Given the description of an element on the screen output the (x, y) to click on. 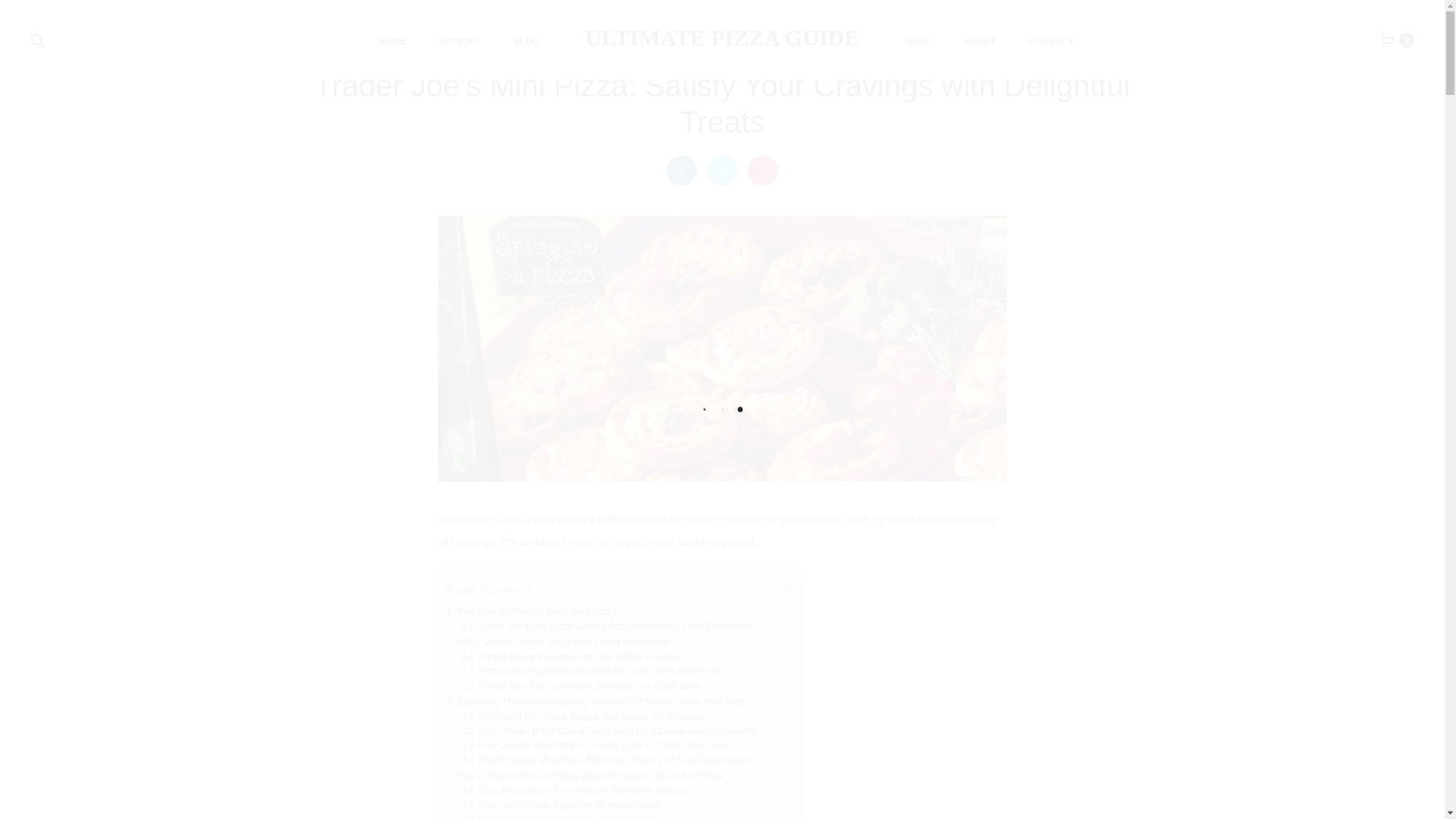
BLOG (526, 41)
Margherita Mini Pizza: Classic And Simple Yet Delicious (581, 716)
Unique Flavor Combinations That Satisfy Cravings (571, 657)
SHOP (917, 41)
PIZZA GUIDE (745, 45)
RIVIEWS (459, 41)
Easy Preparation: From Freezer To Plate In Minutes (574, 790)
ULTIMATE PIZZA GUIDE (722, 37)
Perfect Size For Convenient Snacking Or A Quick Meal (579, 686)
Search (37, 39)
Unique Flavor Combinations That Satisfy Cravings (571, 657)
Ideal For Solo Dining Or Entertaining Guests (559, 816)
Perfect Size For Convenient Snacking Or A Quick Meal (579, 686)
